Given the description of an element on the screen output the (x, y) to click on. 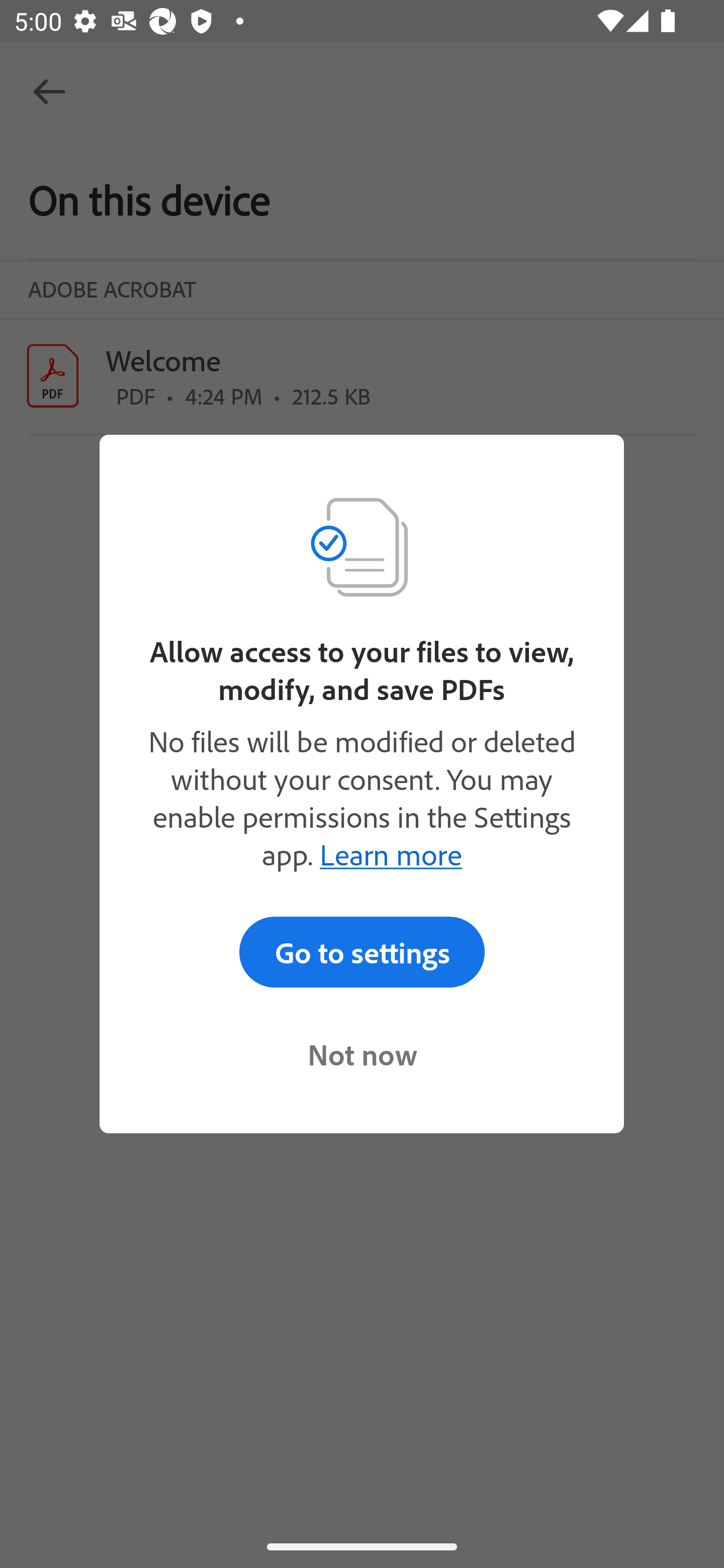
Go to settings (361, 952)
Not now (361, 1054)
